Given the description of an element on the screen output the (x, y) to click on. 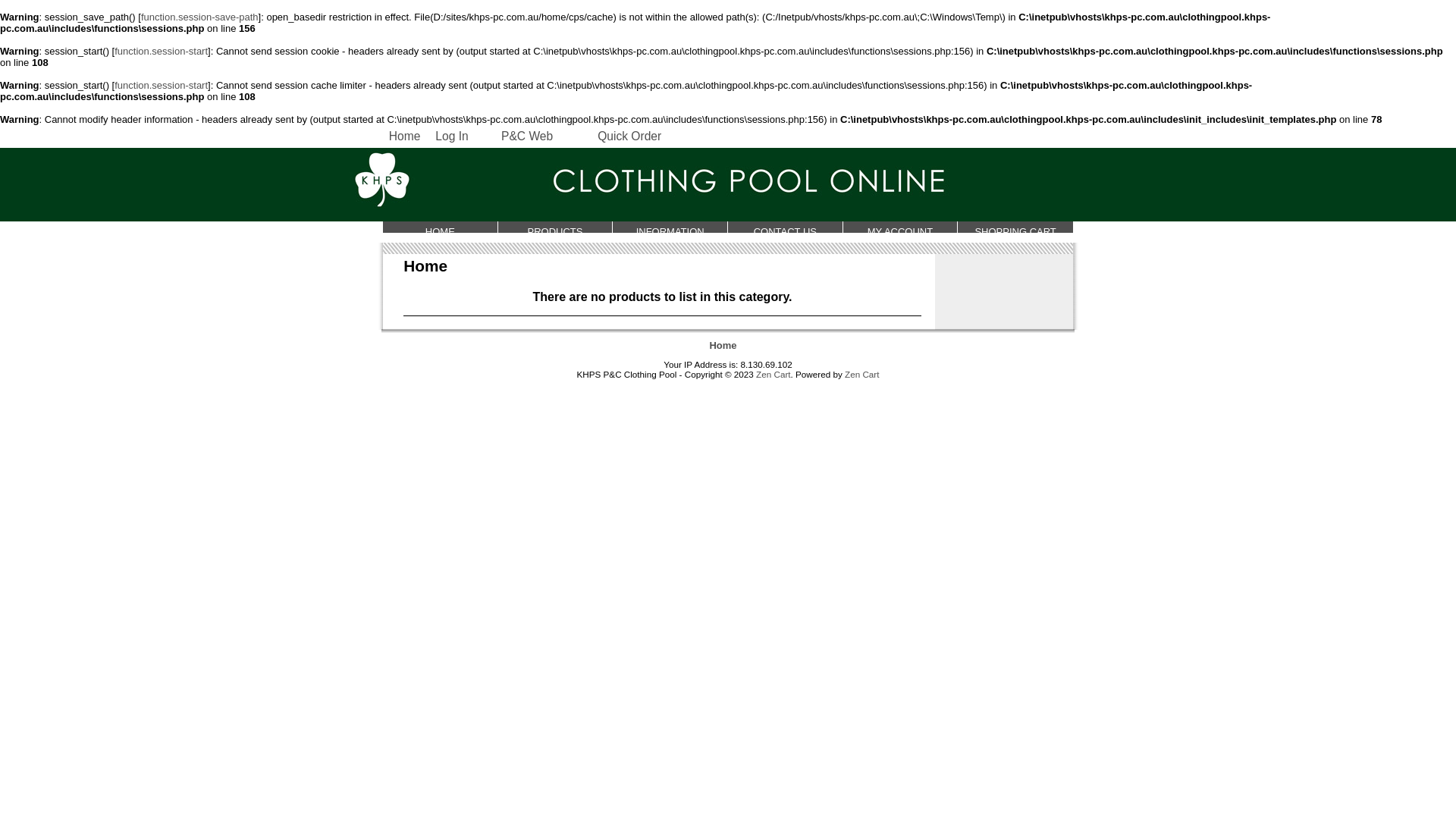
 Killarney Heights Public School P&C Clothing Pool  Element type: hover (727, 179)
MY ACCOUNT Element type: text (900, 227)
SHOPPING CART Element type: text (1015, 227)
Home Element type: text (722, 345)
Zen Cart Element type: text (773, 374)
function.session-start Element type: text (160, 85)
INFORMATION Element type: text (670, 227)
function.session-save-path Element type: text (199, 16)
Home Element type: text (404, 135)
function.session-start Element type: text (160, 50)
HOME Element type: text (440, 227)
Quick Order Element type: text (629, 135)
CONTACT US Element type: text (785, 227)
P&C Web Element type: text (526, 135)
Zen Cart Element type: text (861, 374)
PRODUCTS Element type: text (555, 227)
Log In Element type: text (451, 135)
